Given the description of an element on the screen output the (x, y) to click on. 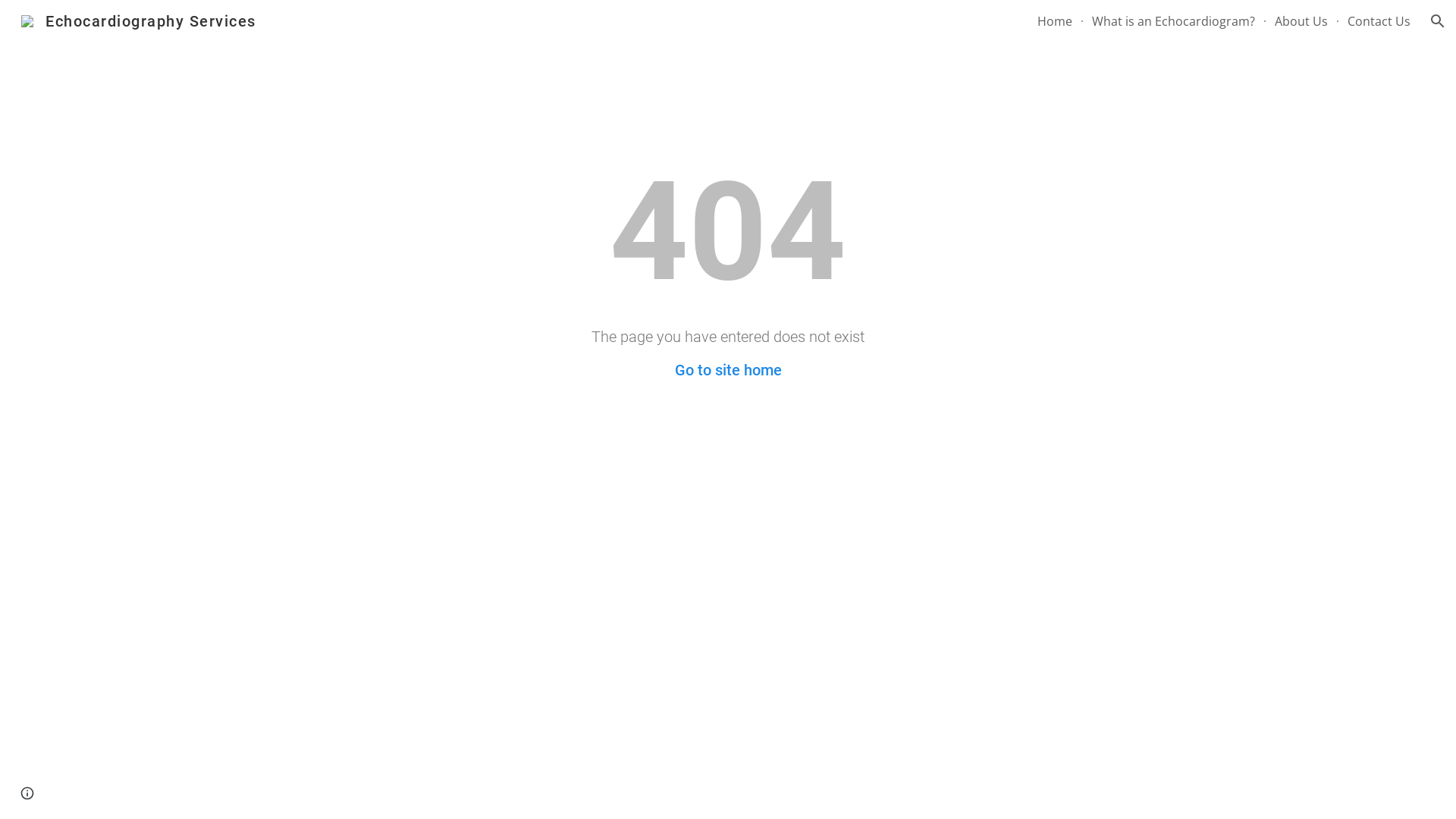
Go to site home Element type: text (727, 369)
Echocardiography Services Element type: text (138, 19)
About Us Element type: text (1300, 20)
Home Element type: text (1054, 20)
Contact Us Element type: text (1378, 20)
What is an Echocardiogram? Element type: text (1173, 20)
